Given the description of an element on the screen output the (x, y) to click on. 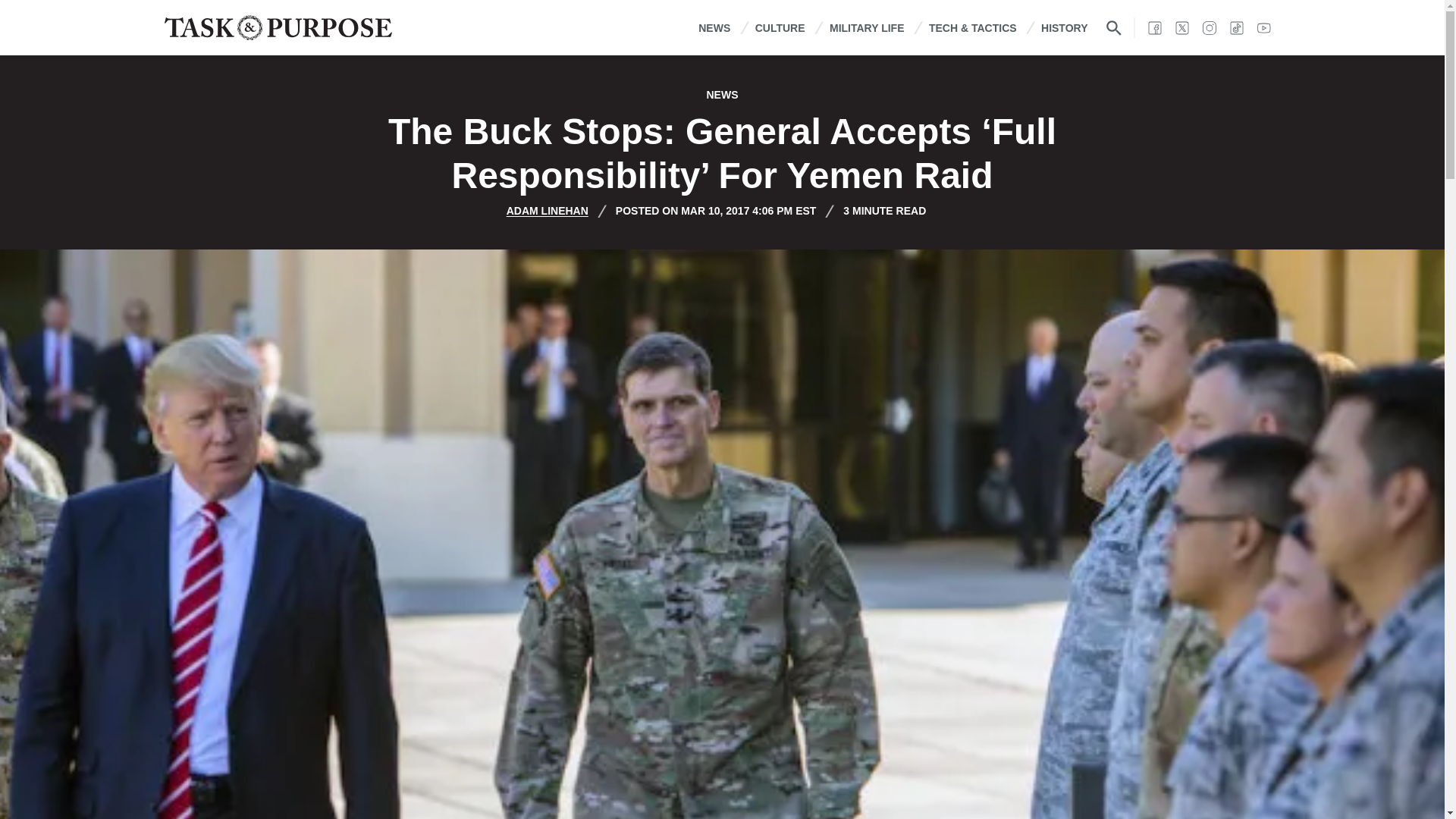
NEWS (714, 27)
CULTURE (780, 27)
MILITARY LIFE (866, 27)
